Given the description of an element on the screen output the (x, y) to click on. 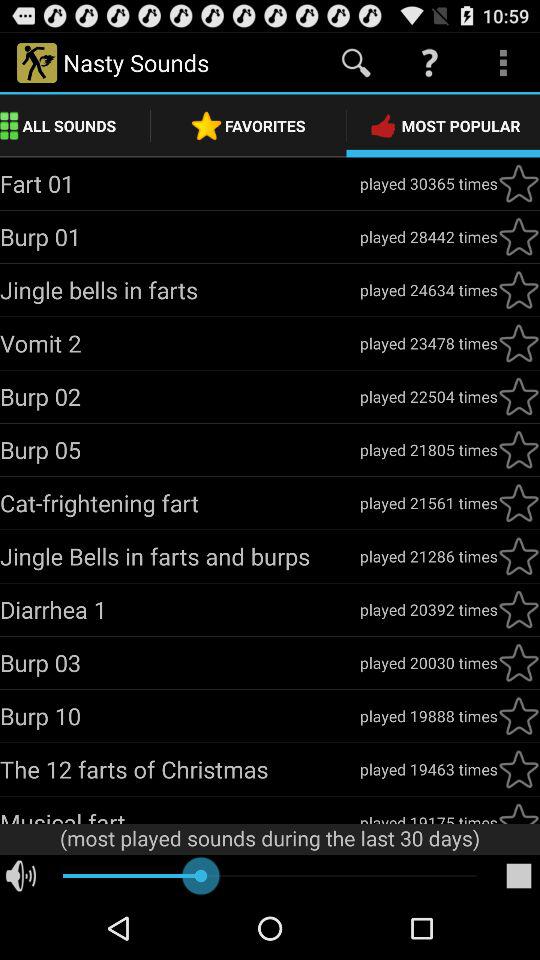
press app to the right of musical fart (428, 817)
